Given the description of an element on the screen output the (x, y) to click on. 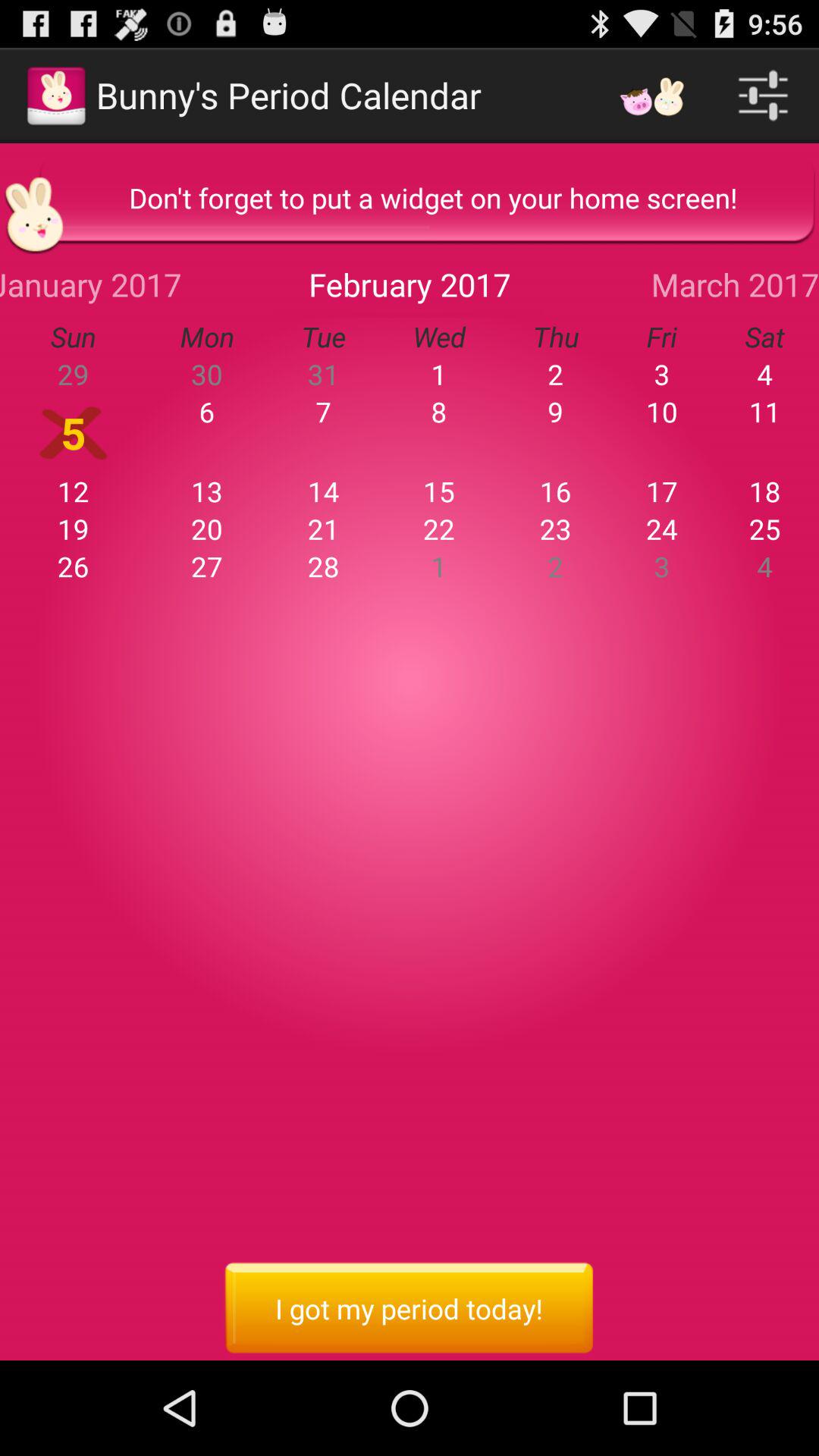
turn off icon next to 18 (661, 491)
